Given the description of an element on the screen output the (x, y) to click on. 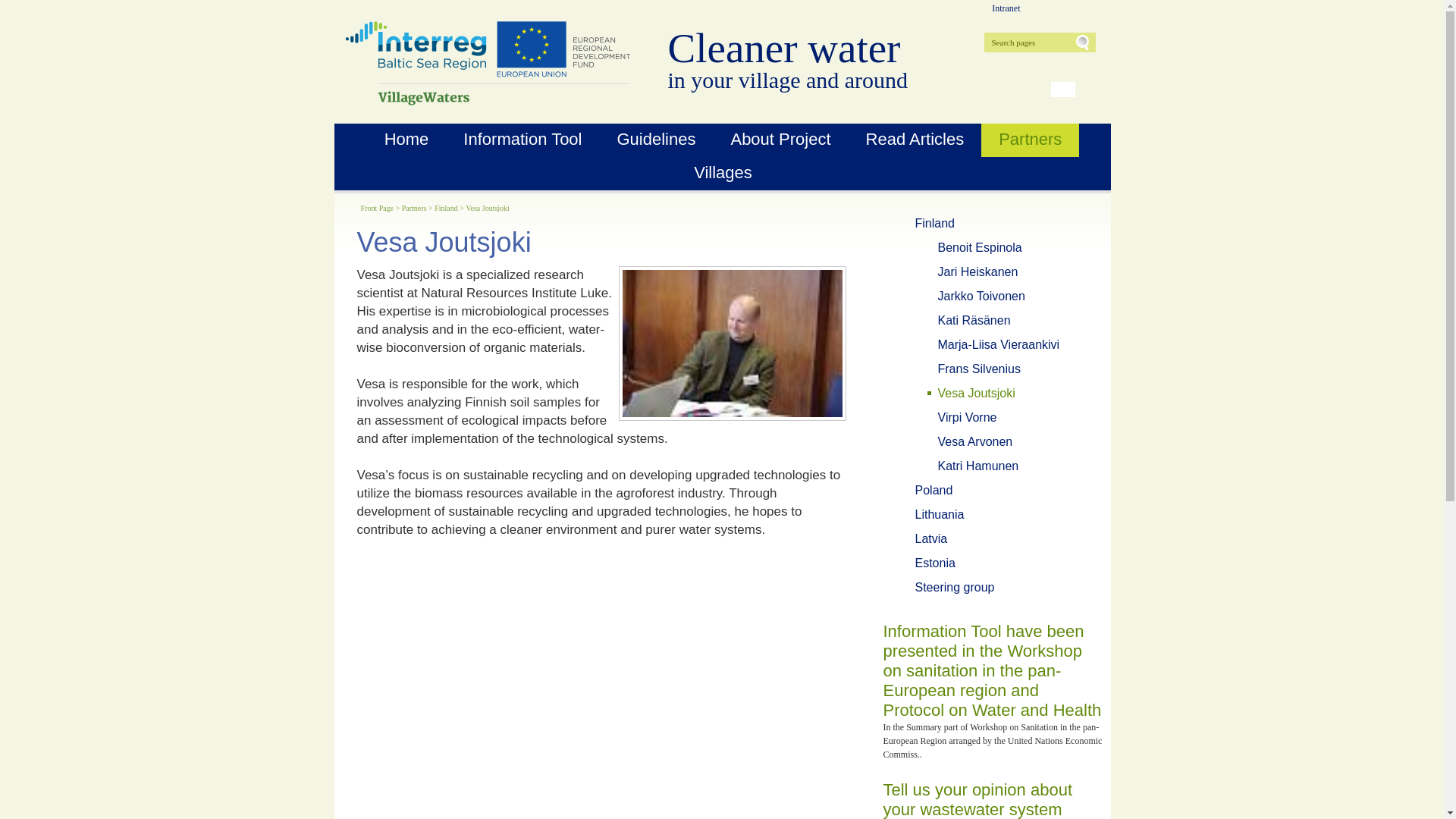
Vesa Joutsjoki (489, 64)
Partners (1029, 140)
Home (406, 140)
Jarkko Toivonen (1006, 296)
Jari Heiskanen (1006, 272)
About Project (780, 140)
Search pages (1027, 42)
Finland (995, 223)
Marja-Liisa Vieraankivi (1006, 344)
Guidelines (655, 140)
Vesa Joutsjoki Share in Facebook (756, 555)
Read Articles (914, 140)
Vesa Joutsjoki (731, 412)
Vesa Joutsjoki Tweet in Twitter (706, 555)
Vesa Joutsjoki Share this Page (808, 555)
